Given the description of an element on the screen output the (x, y) to click on. 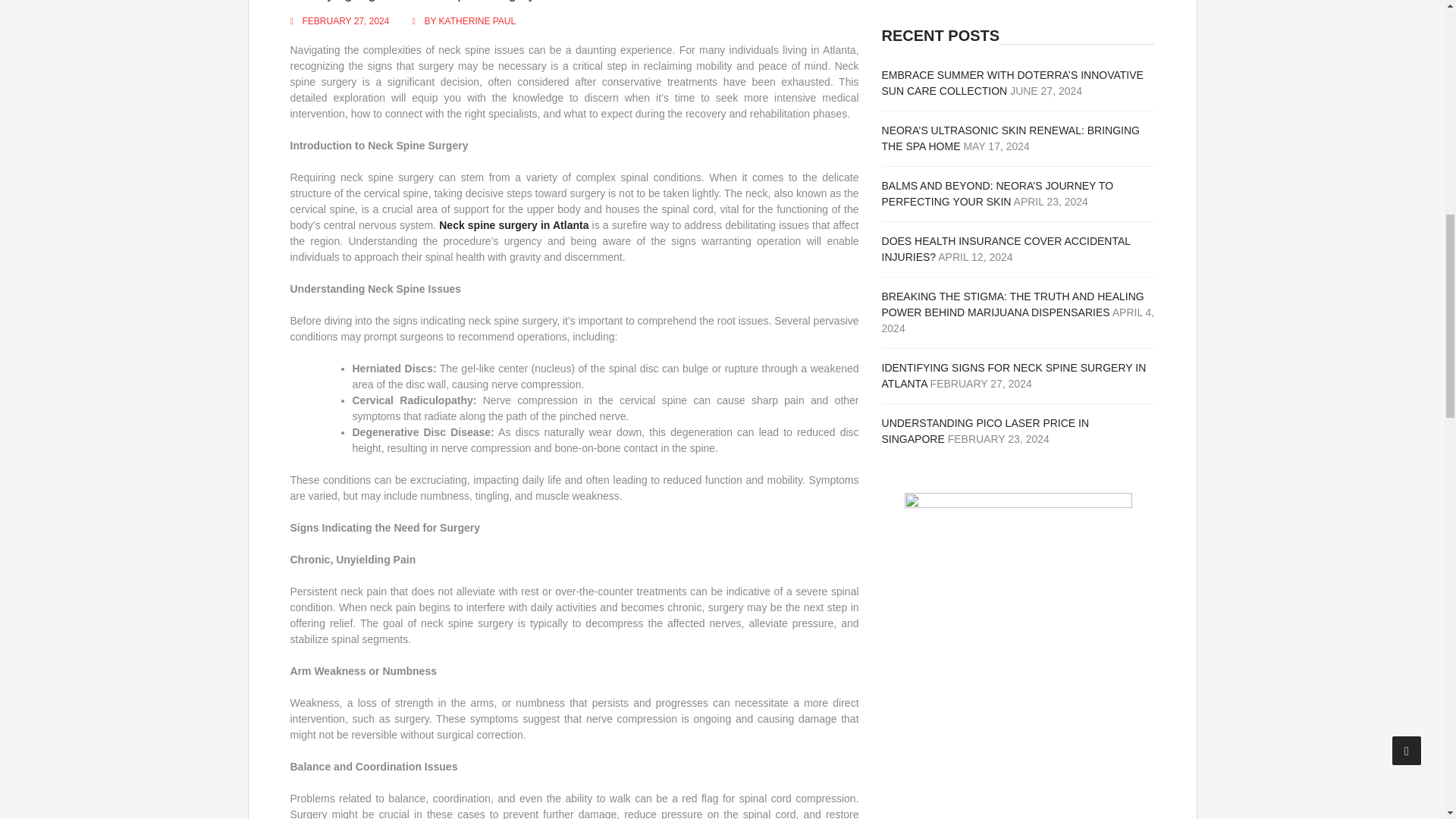
KATHERINE PAUL (477, 20)
Neck spine surgery in Atlanta (513, 224)
FEBRUARY 27, 2024 (344, 20)
